Given the description of an element on the screen output the (x, y) to click on. 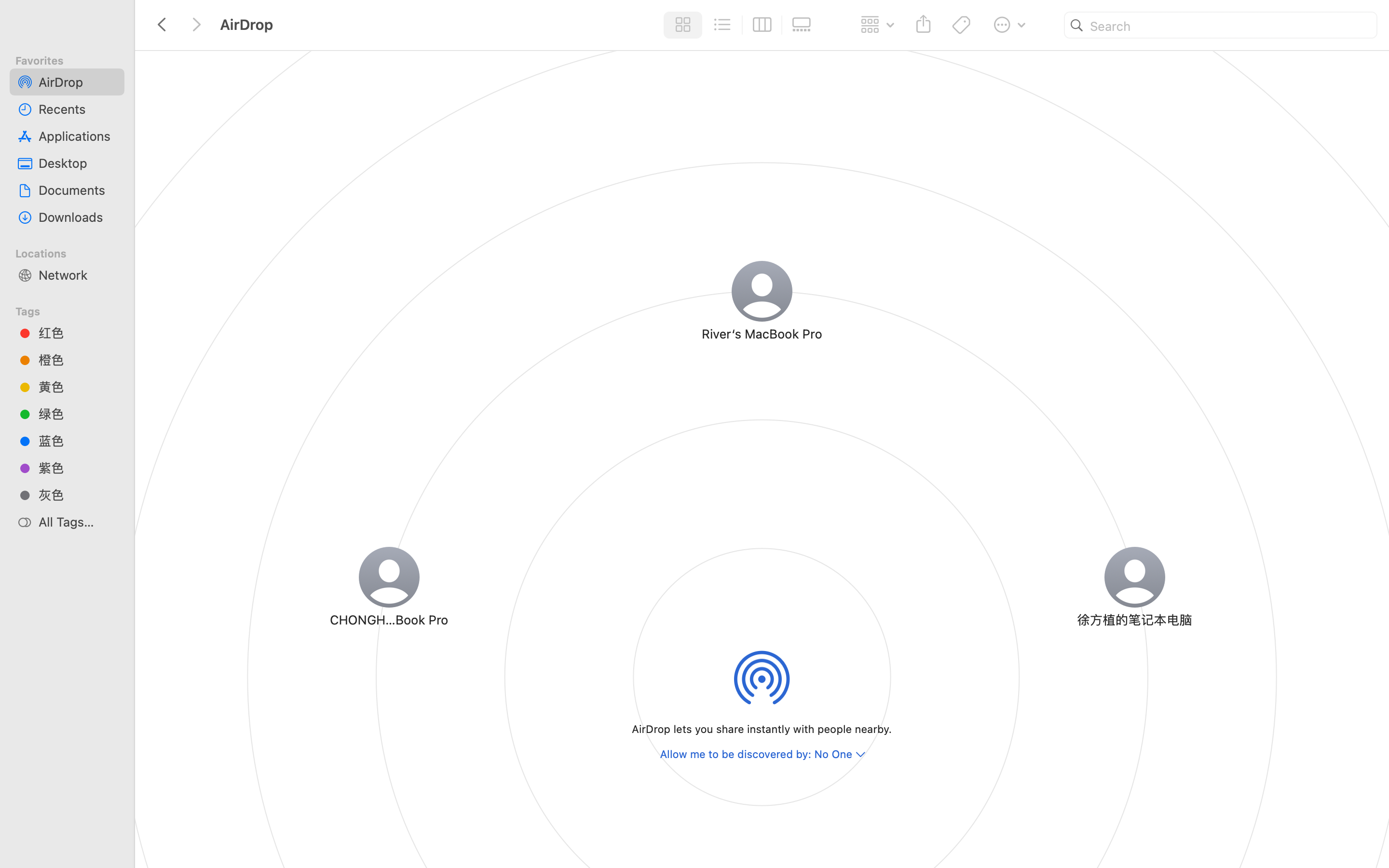
Applications Element type: AXStaticText (77, 135)
AirDrop Element type: AXStaticText (437, 827)
灰色 Element type: AXStaticText (77, 494)
Tags… Element type: AXStaticText (20, 860)
徐方植的笔记本电脑 Element type: AXStaticText (1133, 618)
